Given the description of an element on the screen output the (x, y) to click on. 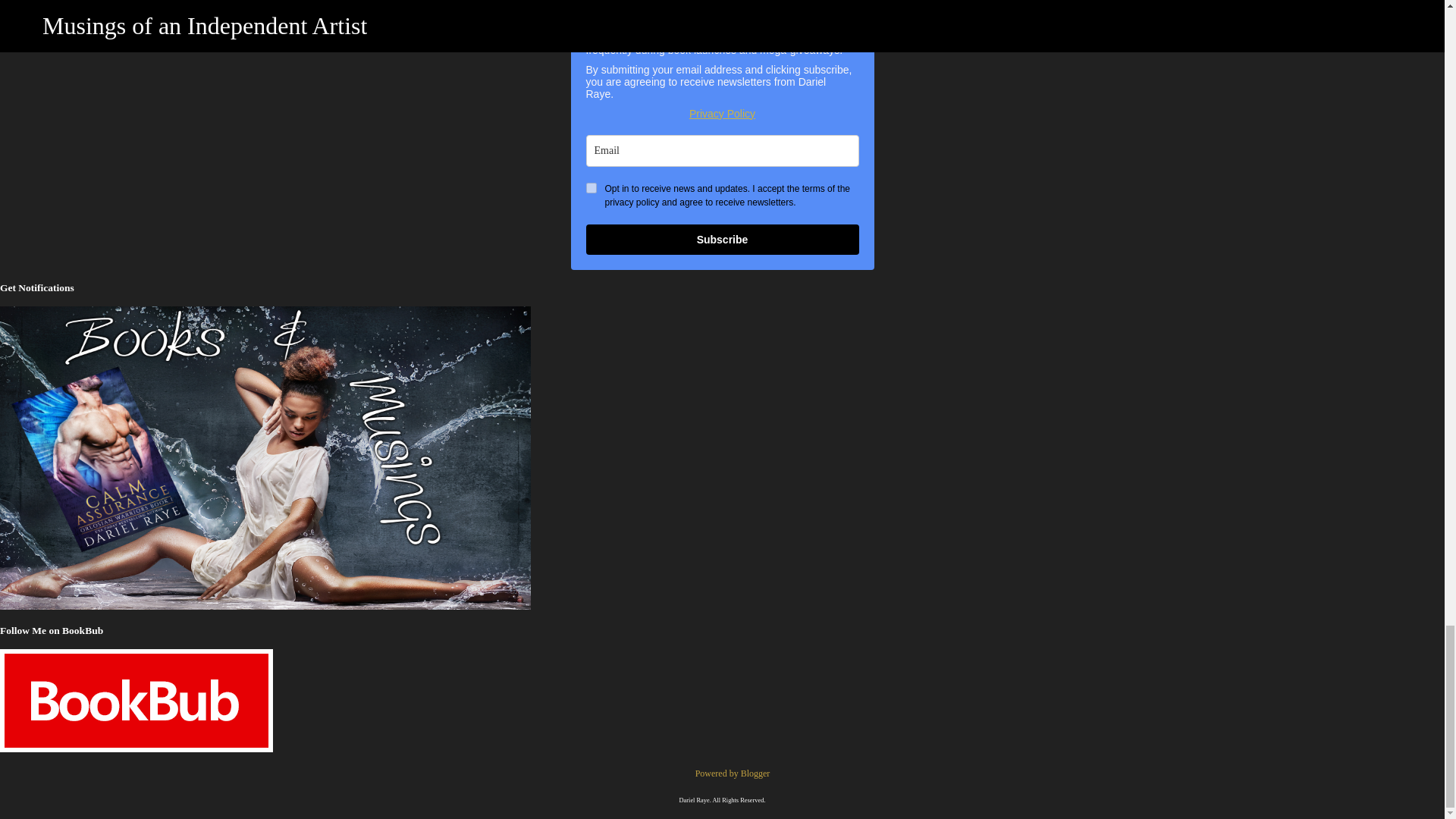
on (590, 187)
